Given the description of an element on the screen output the (x, y) to click on. 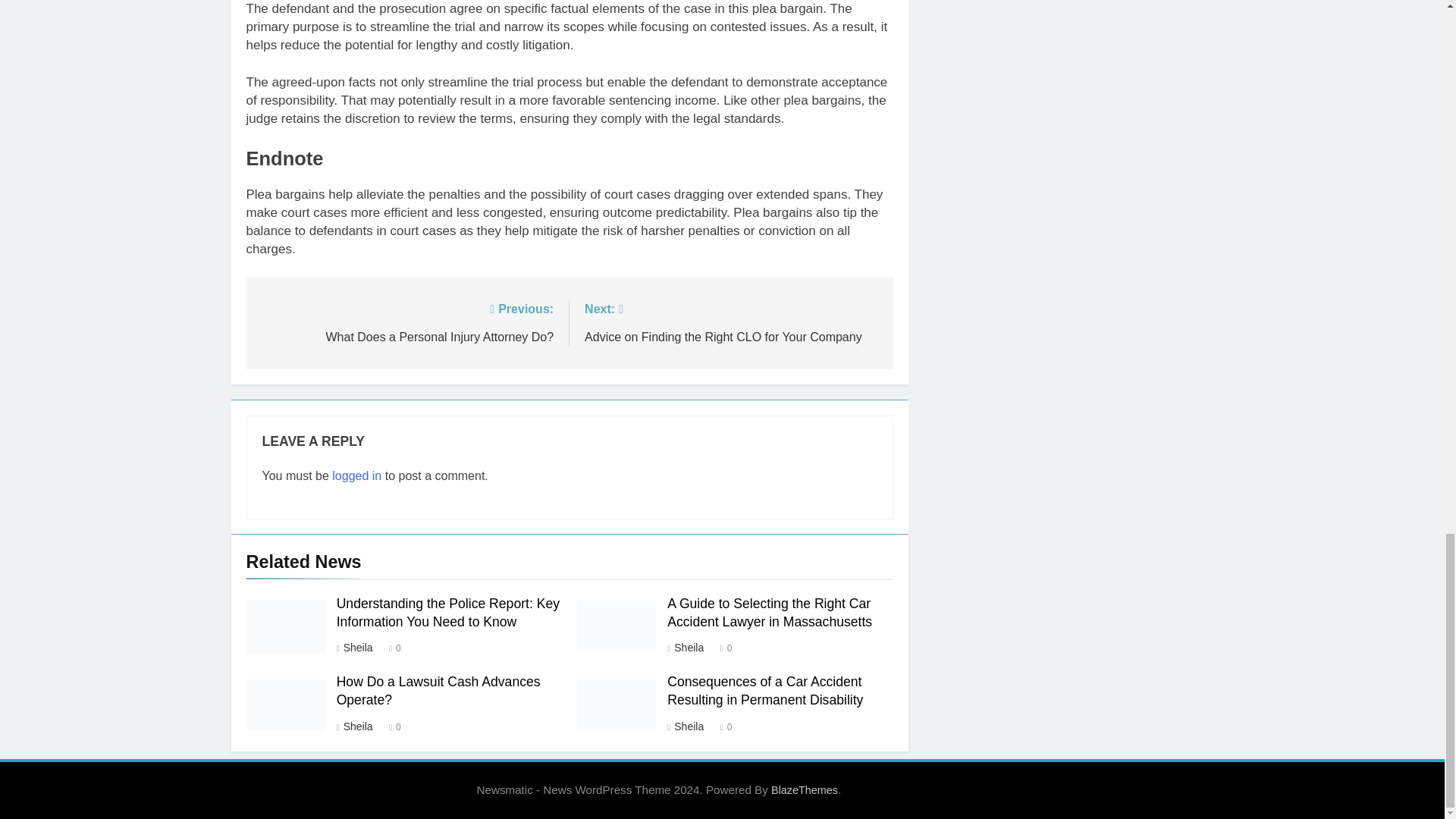
Sheila (357, 647)
logged in (356, 475)
0 (391, 646)
Sheila (687, 647)
